Given the description of an element on the screen output the (x, y) to click on. 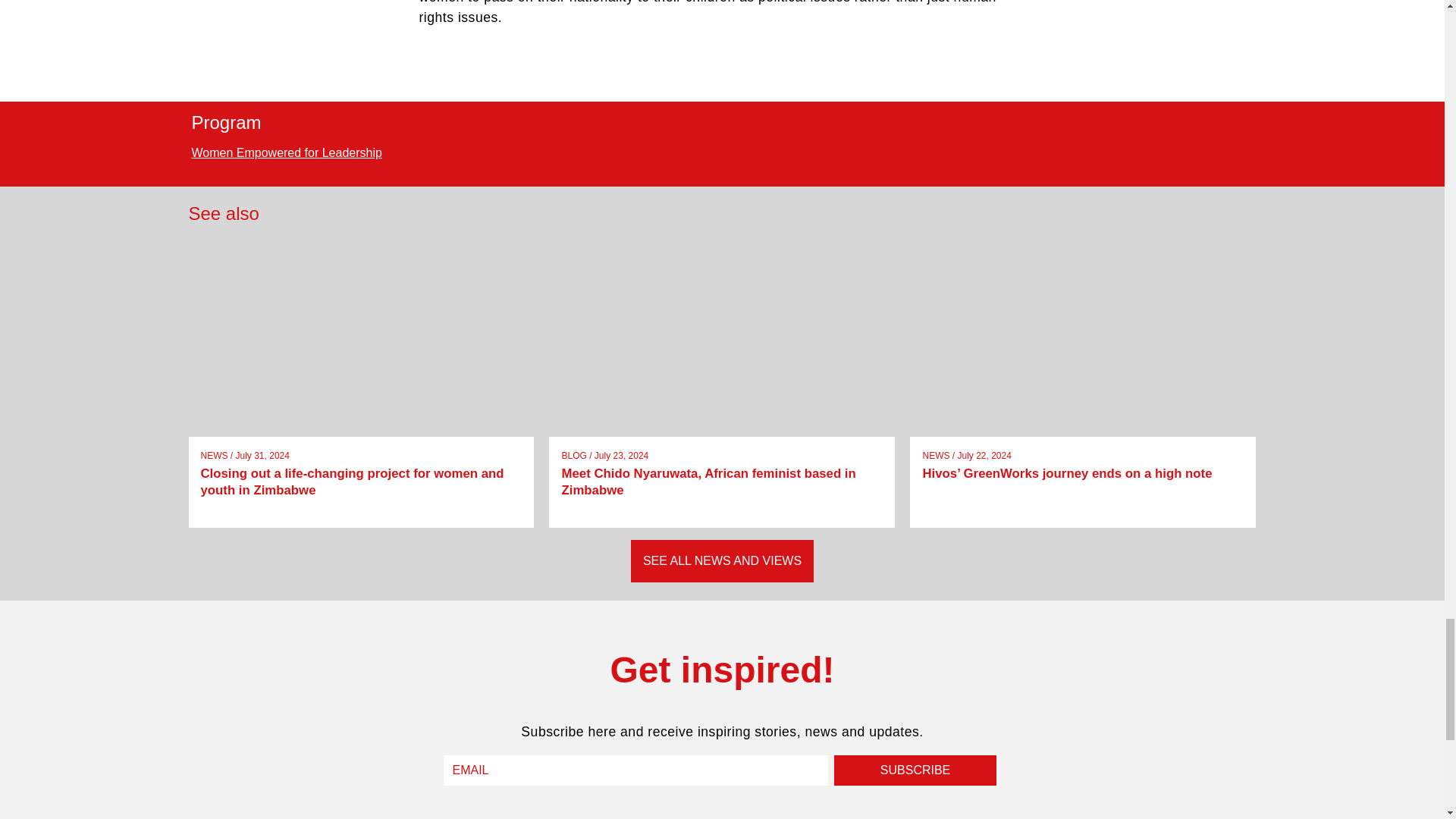
Subscribe (914, 770)
